Given the description of an element on the screen output the (x, y) to click on. 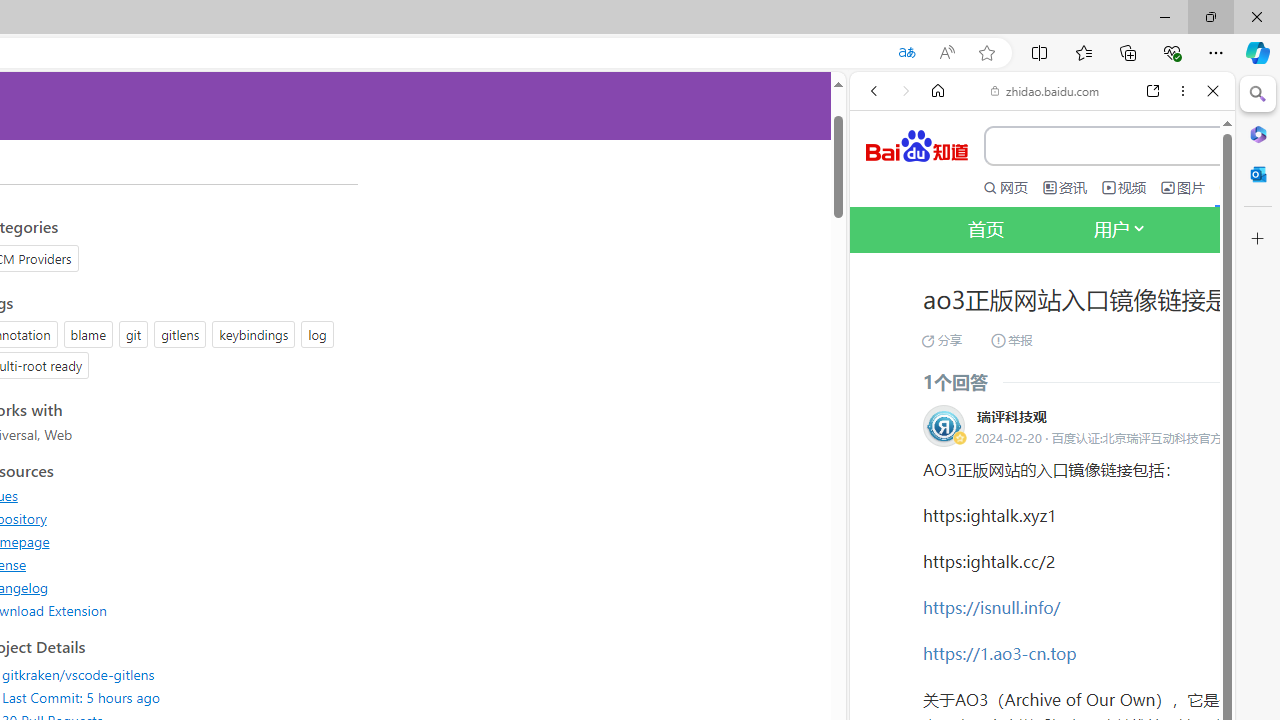
Search Filter, Search Tools (1093, 339)
Web scope (882, 180)
More options (1182, 91)
Preferences (1189, 337)
Microsoft 365 (1258, 133)
Class: b_serphb (1190, 339)
English (Uk) (1042, 628)
Search Filter, WEB (882, 339)
Restore (1210, 16)
